Given the description of an element on the screen output the (x, y) to click on. 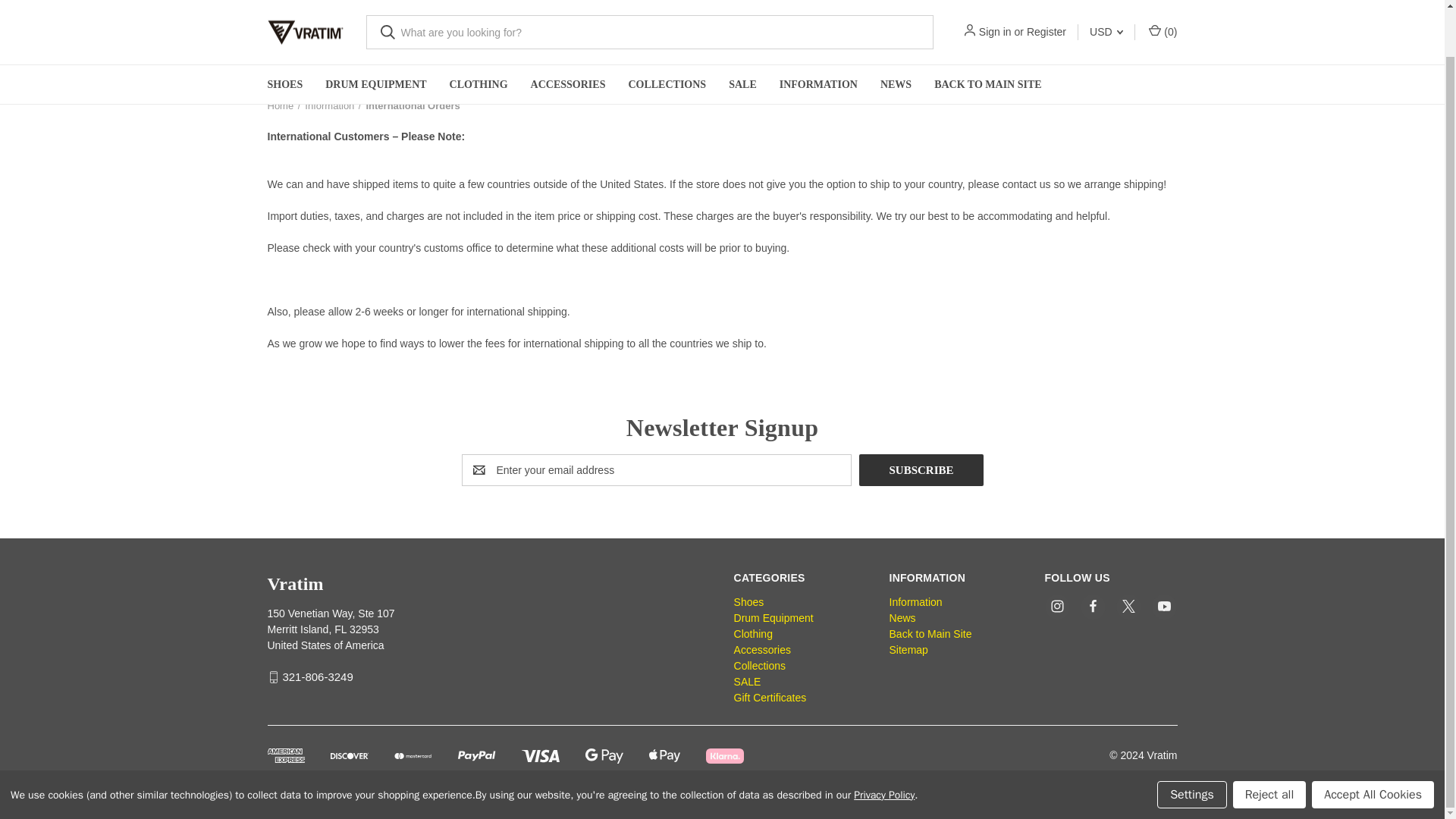
SHOES (285, 34)
DRUM EQUIPMENT (376, 34)
ACCESSORIES (568, 34)
CLOTHING (478, 34)
Subscribe (920, 470)
Contact Vratim (1027, 184)
